Given the description of an element on the screen output the (x, y) to click on. 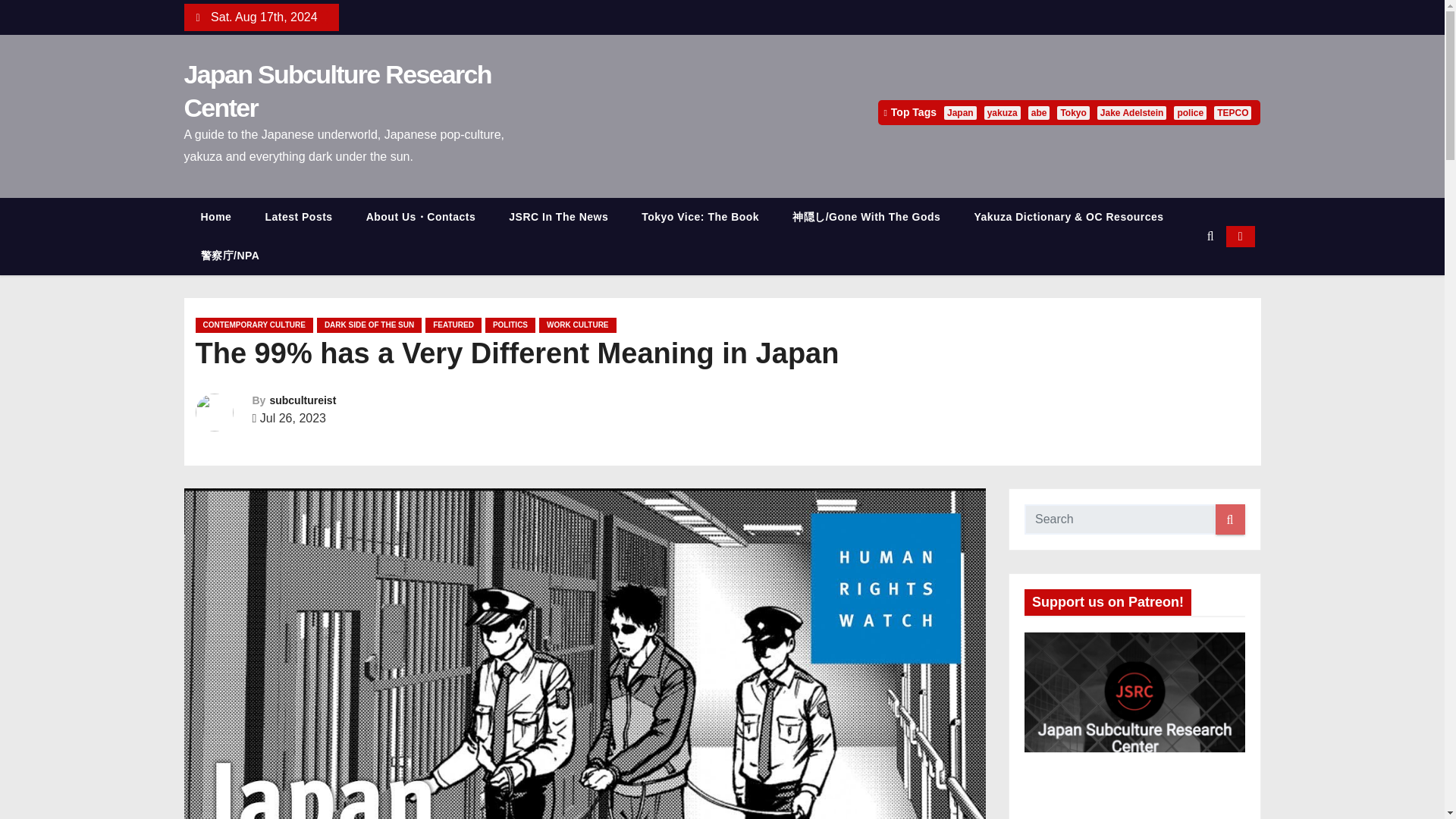
CONTEMPORARY CULTURE (254, 324)
JSRC In The News (558, 217)
Jake Adelstein (1132, 112)
abe (1038, 112)
yakuza (1002, 112)
Latest Posts (298, 217)
FEATURED (453, 324)
Tokyo (1073, 112)
police (1190, 112)
Tokyo Vice: The Book (700, 217)
